Given the description of an element on the screen output the (x, y) to click on. 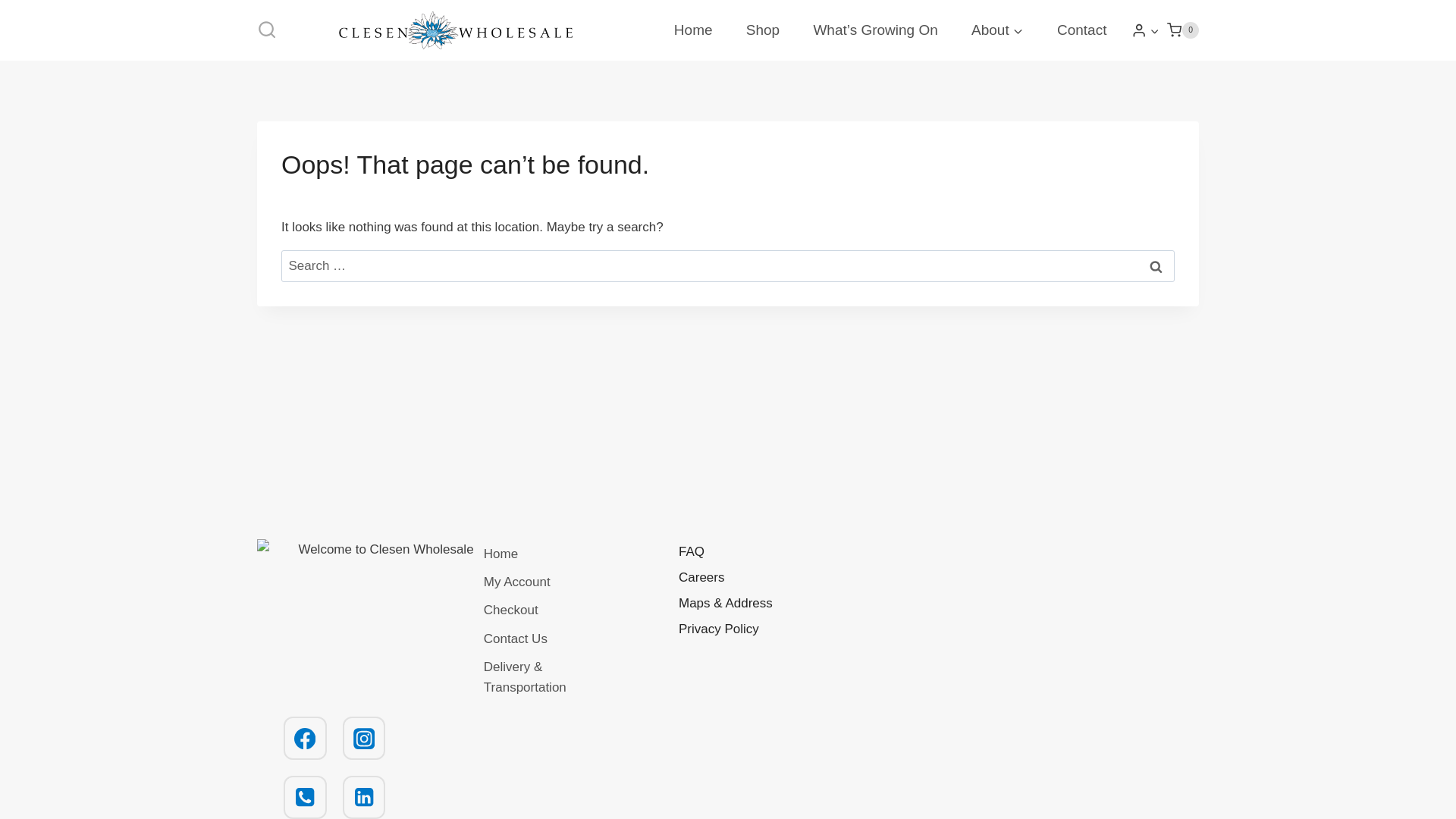
Contact (1082, 30)
Home (693, 30)
About (998, 30)
Shop (762, 30)
Search (1155, 266)
0 (1182, 29)
Checkout (510, 610)
Contact Us (515, 638)
Search (1155, 266)
Search (1155, 266)
Careers (755, 577)
FAQ (755, 551)
Home (500, 552)
Privacy Policy (755, 629)
My Account (516, 582)
